Given the description of an element on the screen output the (x, y) to click on. 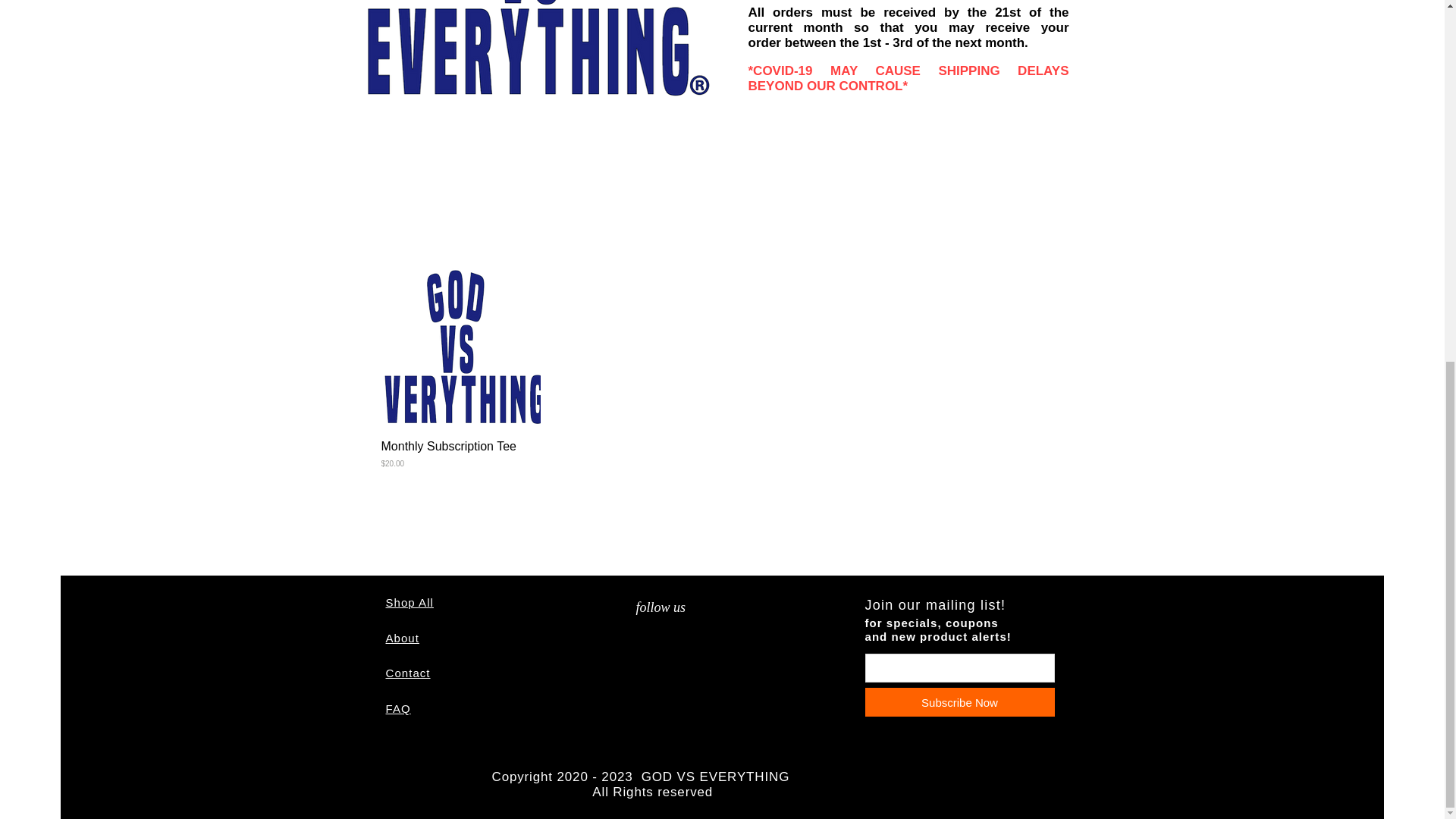
Shop All (408, 602)
FAQ (397, 707)
Contact (407, 672)
Subscribe Now (959, 701)
About (402, 637)
